Given the description of an element on the screen output the (x, y) to click on. 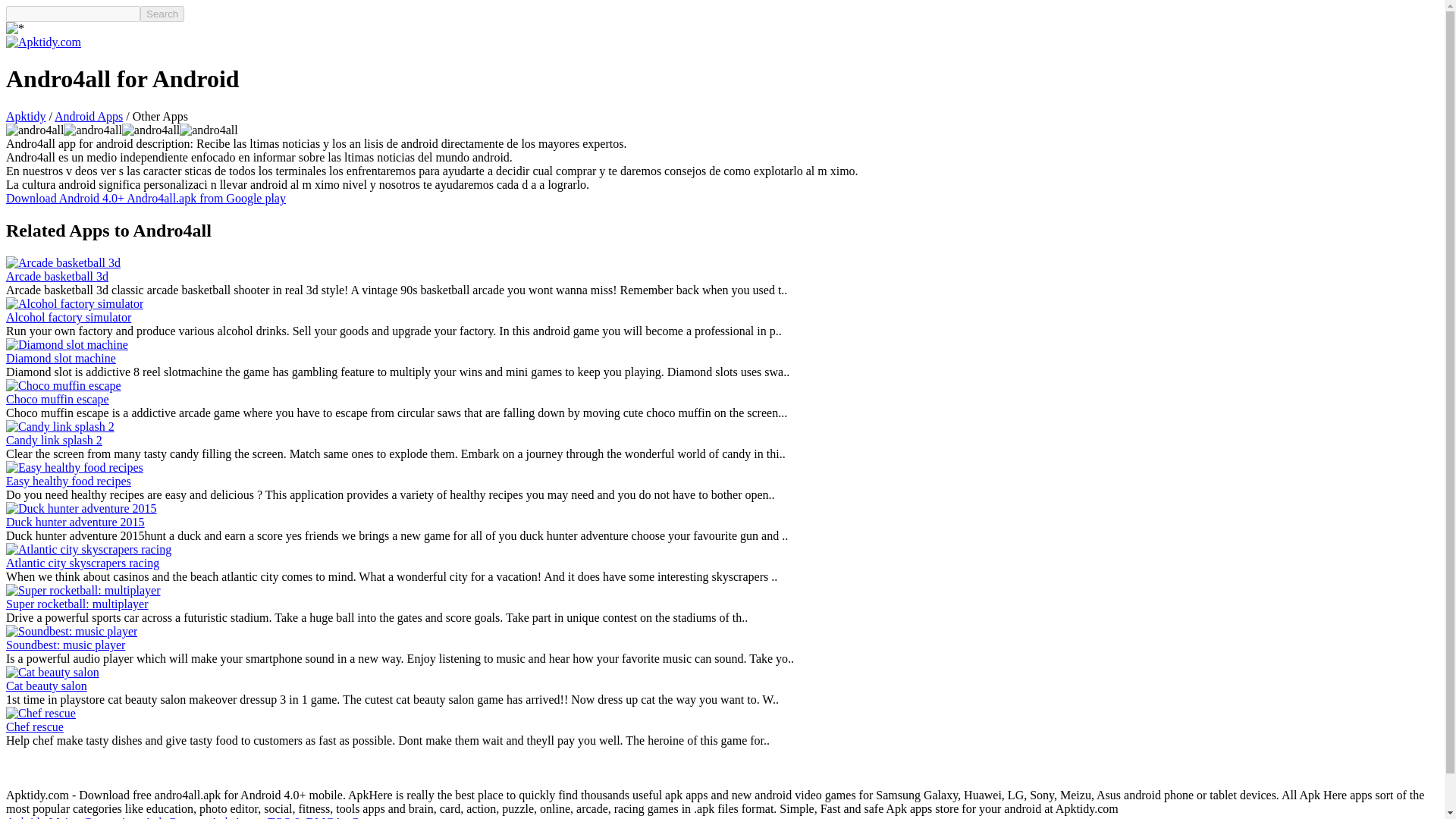
Search (161, 13)
Contact us (376, 817)
Apktidy Main (39, 817)
Apk Apps (234, 817)
Categories (108, 817)
Search (161, 13)
Apktidy (25, 115)
Android Apps (88, 115)
Apk Games (173, 817)
